Given the description of an element on the screen output the (x, y) to click on. 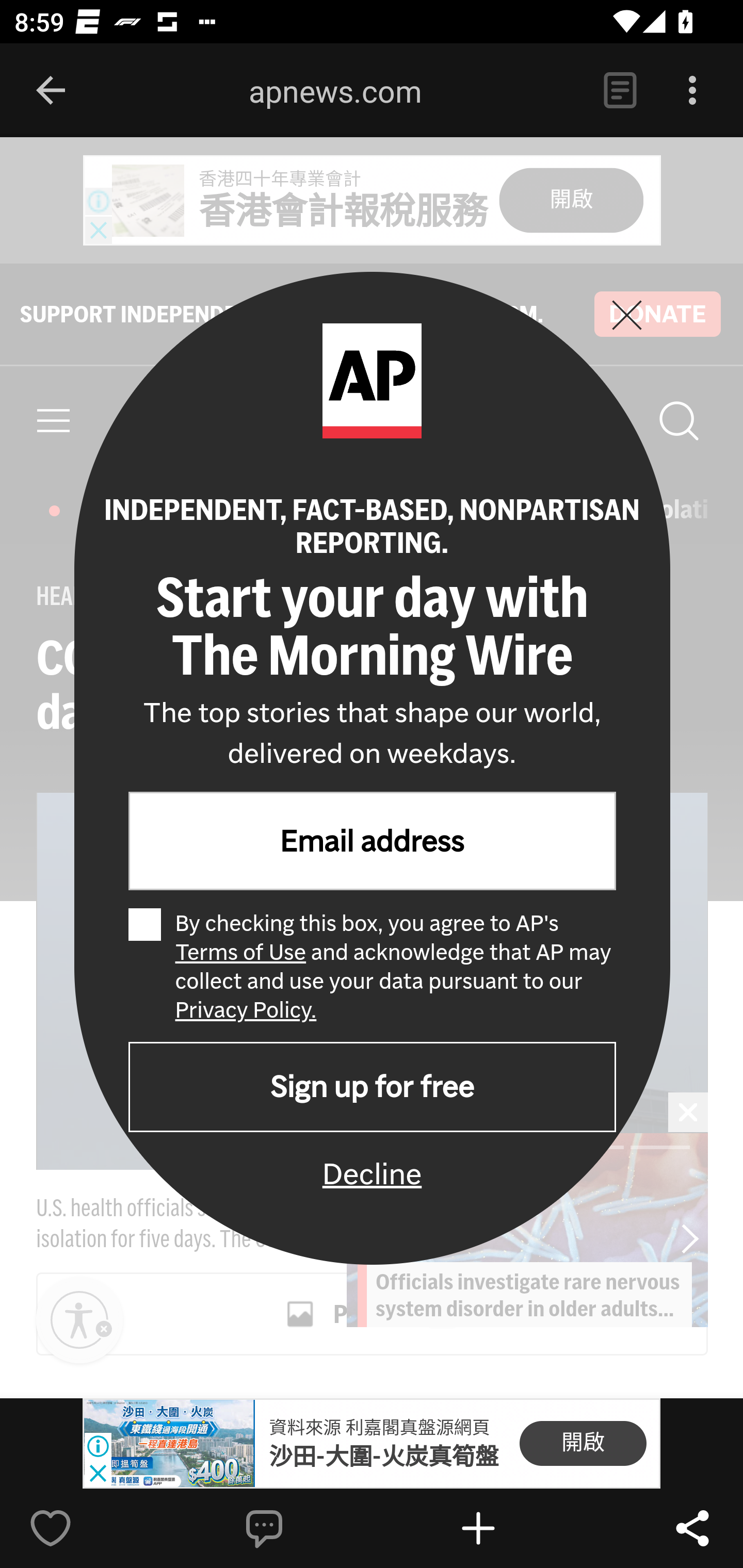
Back (50, 90)
Reader View (619, 90)
Options (692, 90)
close email sign up dialog (626, 315)
Terms of Use (239, 950)
Privacy Policy. (245, 1008)
Sign up for free (371, 1086)
Decline; close the dialog (371, 1174)
B29897659 (168, 1443)
資料來源 利嘉閣真盤源網頁 (379, 1427)
開啟 (582, 1443)
沙田-大圍-火炭真筍盤 (383, 1456)
Like (93, 1528)
Write a comment… (307, 1528)
Flip into Magazine (521, 1528)
Share (692, 1528)
